Given the description of an element on the screen output the (x, y) to click on. 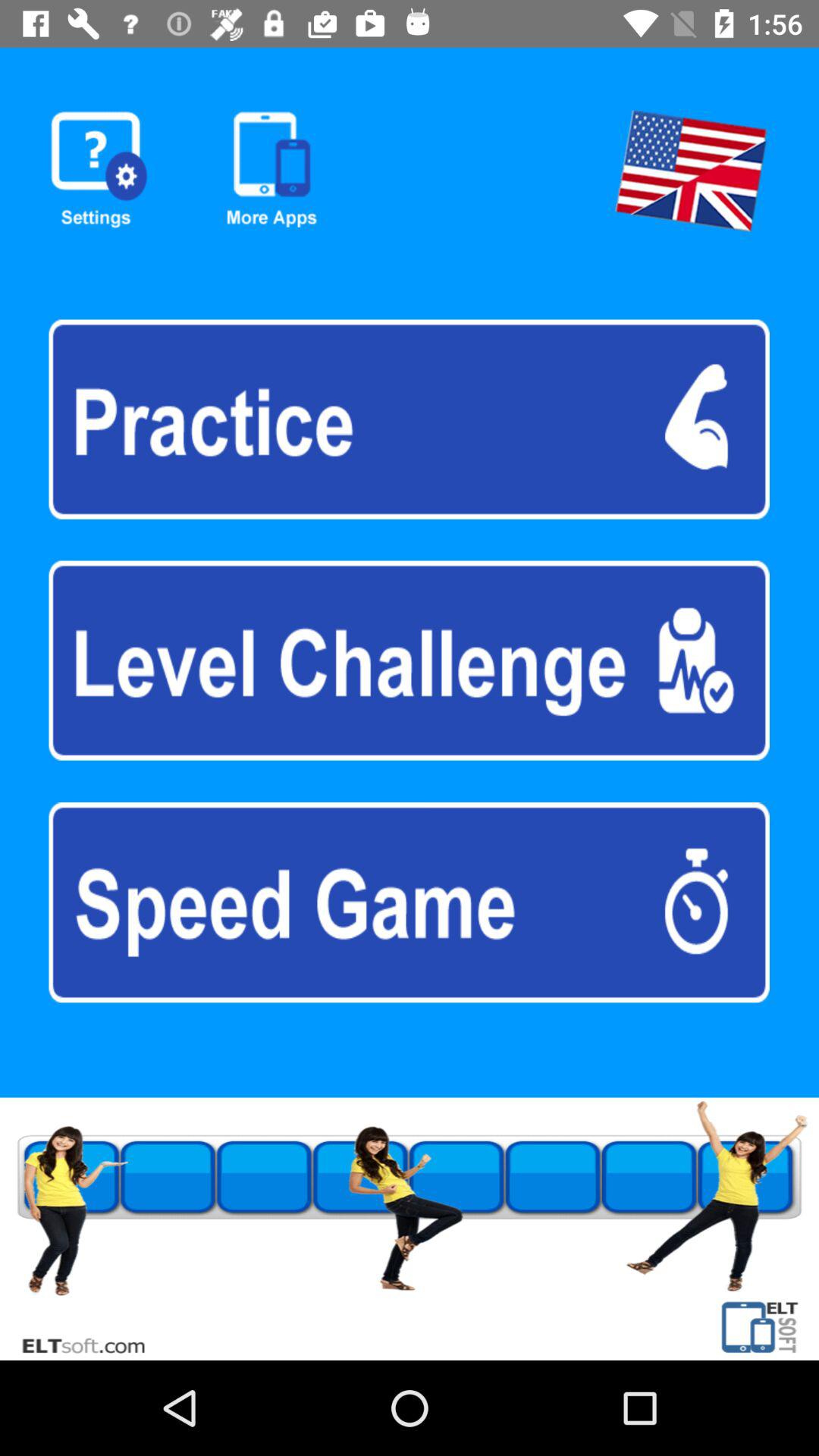
click to play (408, 660)
